Given the description of an element on the screen output the (x, y) to click on. 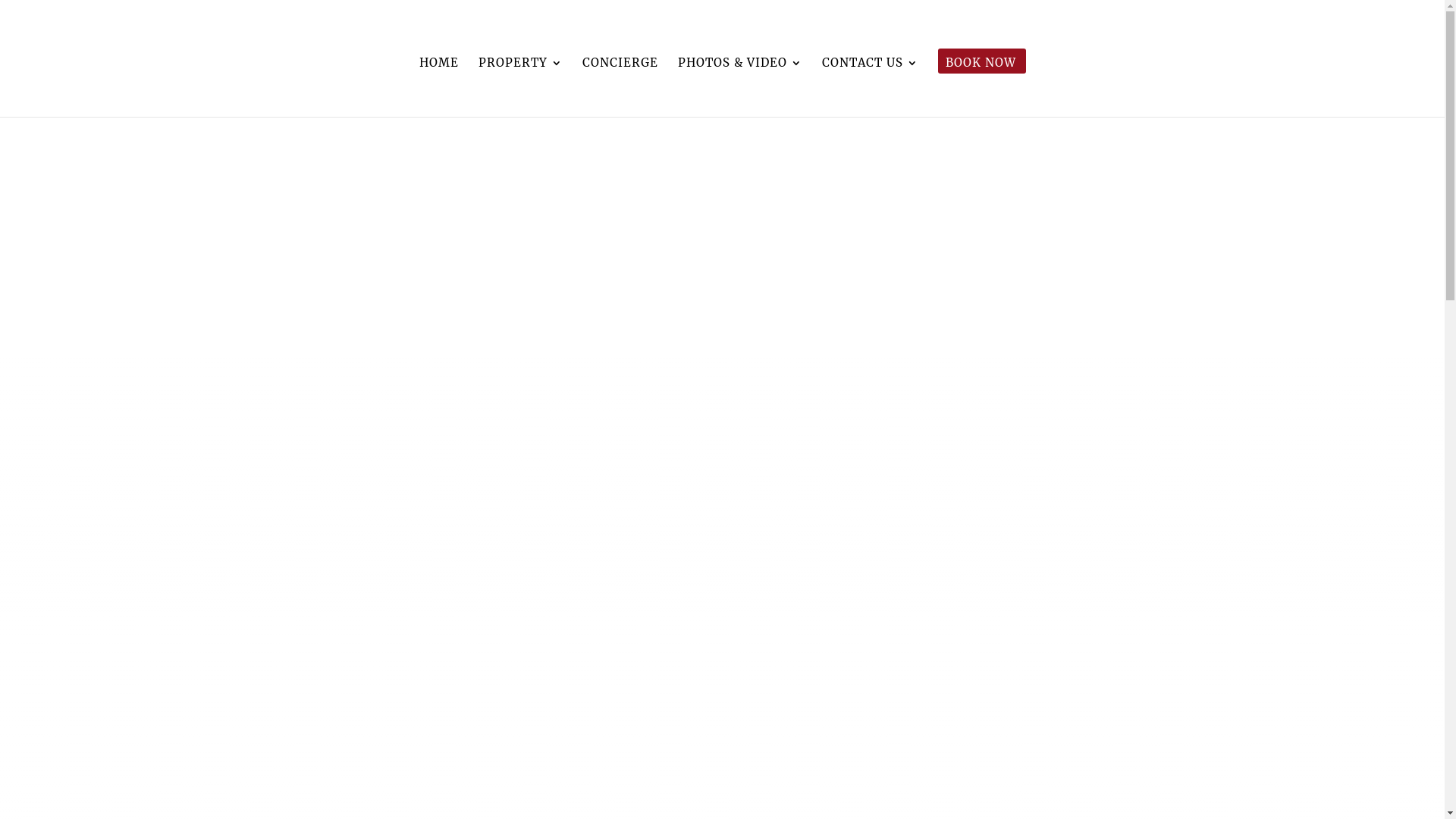
CONCIERGE Element type: text (620, 86)
PROPERTY Element type: text (519, 86)
PHOTOS & VIDEO Element type: text (739, 86)
CONTACT US Element type: text (870, 86)
HOME Element type: text (438, 86)
BOOK NOW Element type: text (979, 86)
